Given the description of an element on the screen output the (x, y) to click on. 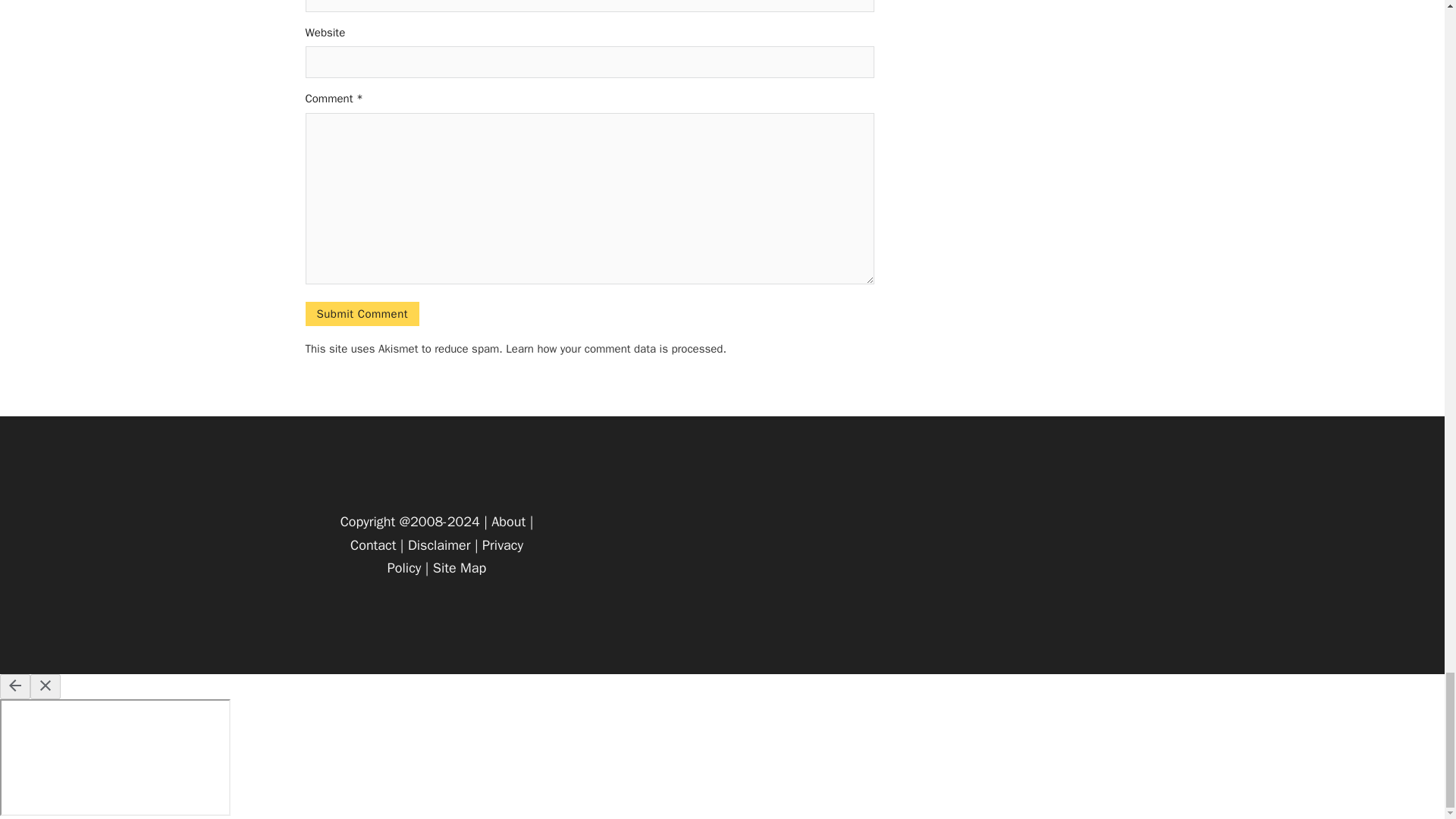
Submit Comment (361, 313)
Submit Comment (361, 313)
Learn how your comment data is processed (613, 348)
